Given the description of an element on the screen output the (x, y) to click on. 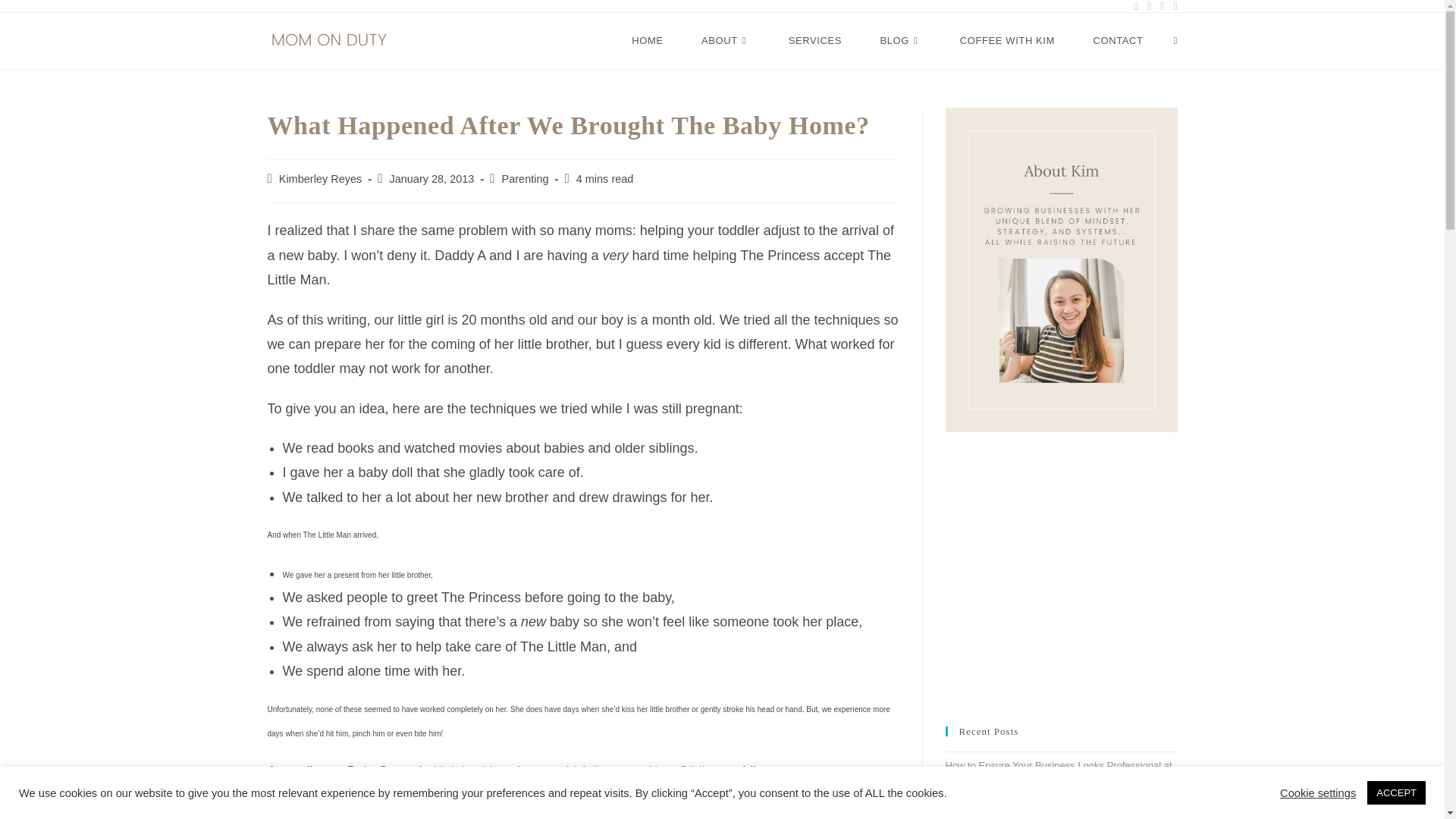
Parenting (525, 178)
CONTACT (1117, 40)
ABOUT (726, 40)
COFFEE WITH KIM (1007, 40)
Posts by Kimberley Reyes (320, 178)
BLOG (900, 40)
SERVICES (814, 40)
HOME (647, 40)
Kimberley Reyes (320, 178)
Advertisement (1058, 576)
